Given the description of an element on the screen output the (x, y) to click on. 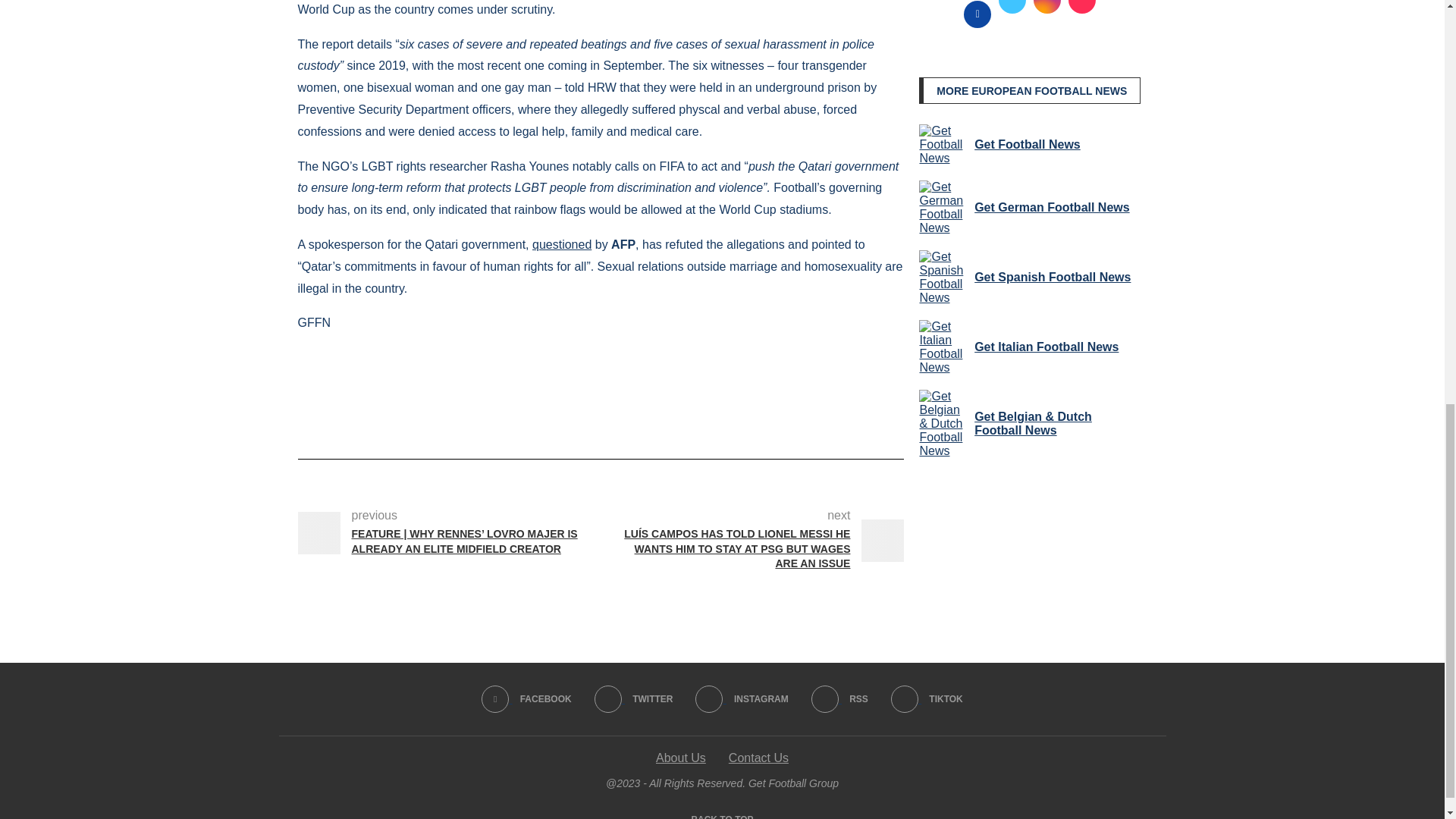
Get Football News (943, 144)
Get Italian Football News (943, 347)
Get Spanish Football News (943, 277)
Get German Football News (943, 207)
